Given the description of an element on the screen output the (x, y) to click on. 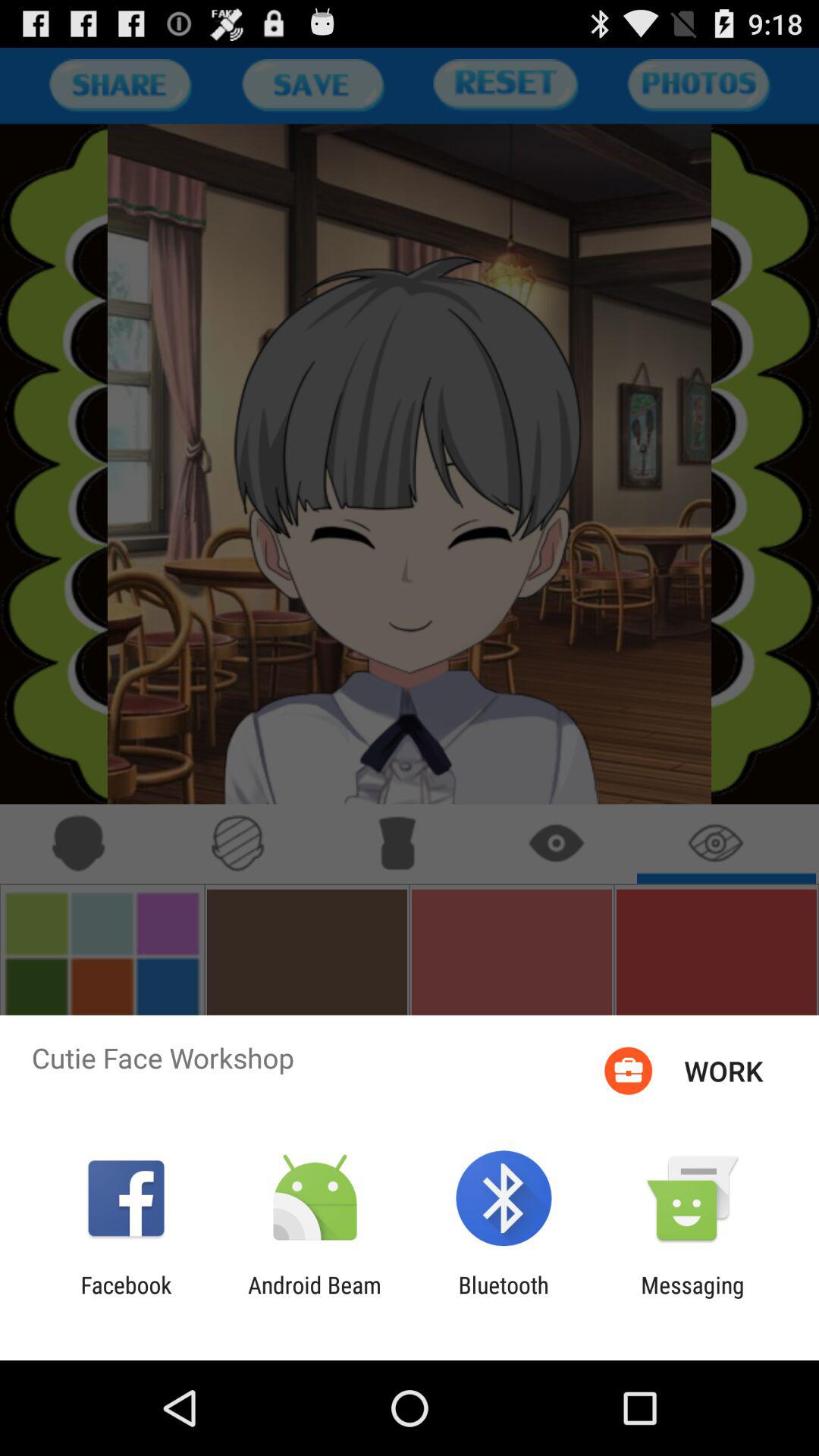
launch icon next to messaging icon (503, 1298)
